Given the description of an element on the screen output the (x, y) to click on. 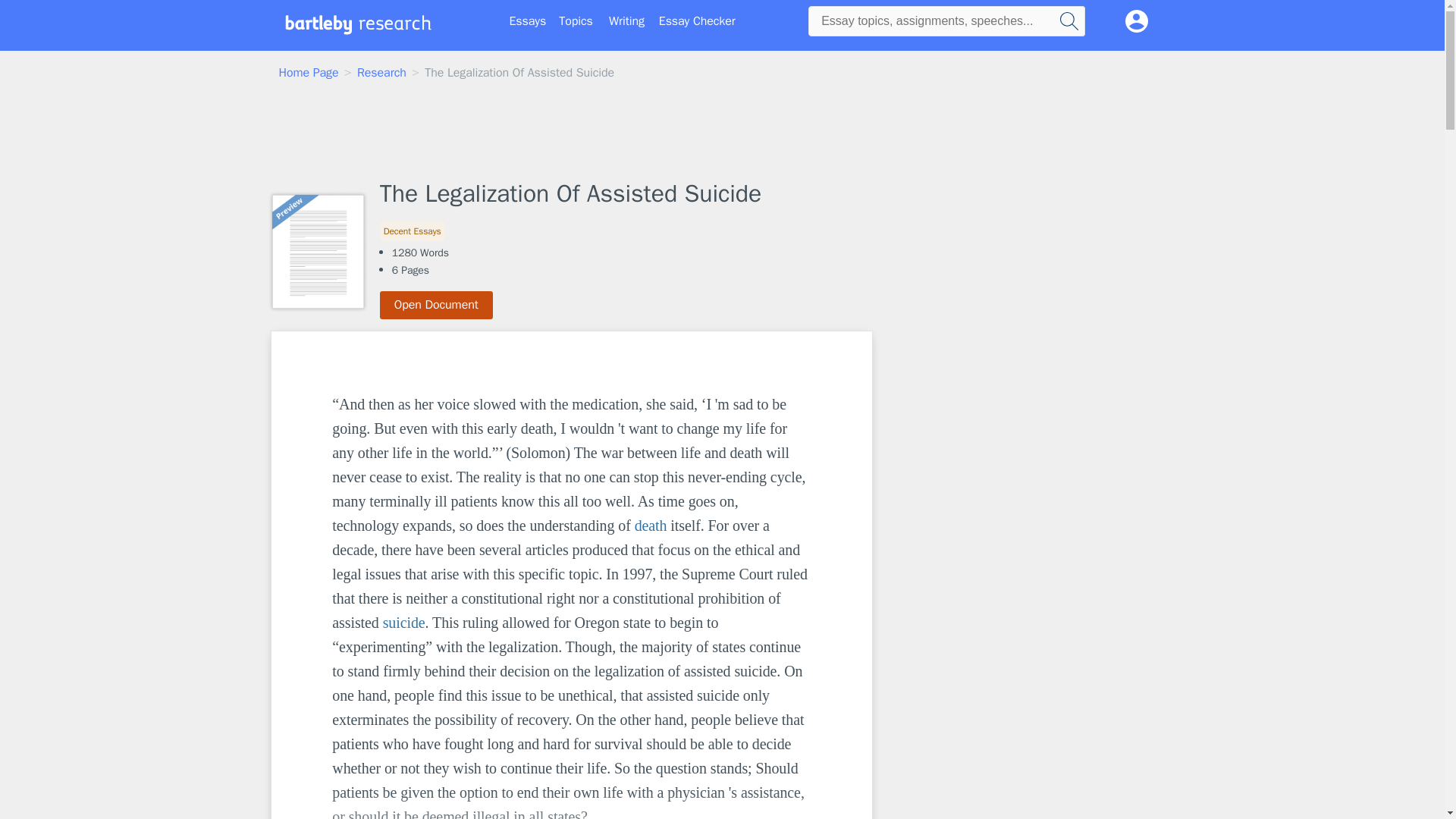
Open Document (436, 305)
Home Page (309, 72)
Research (381, 72)
Topics (575, 20)
Writing (626, 20)
Essay Checker (697, 20)
death (650, 524)
suicide (403, 622)
Essays (528, 20)
